Given the description of an element on the screen output the (x, y) to click on. 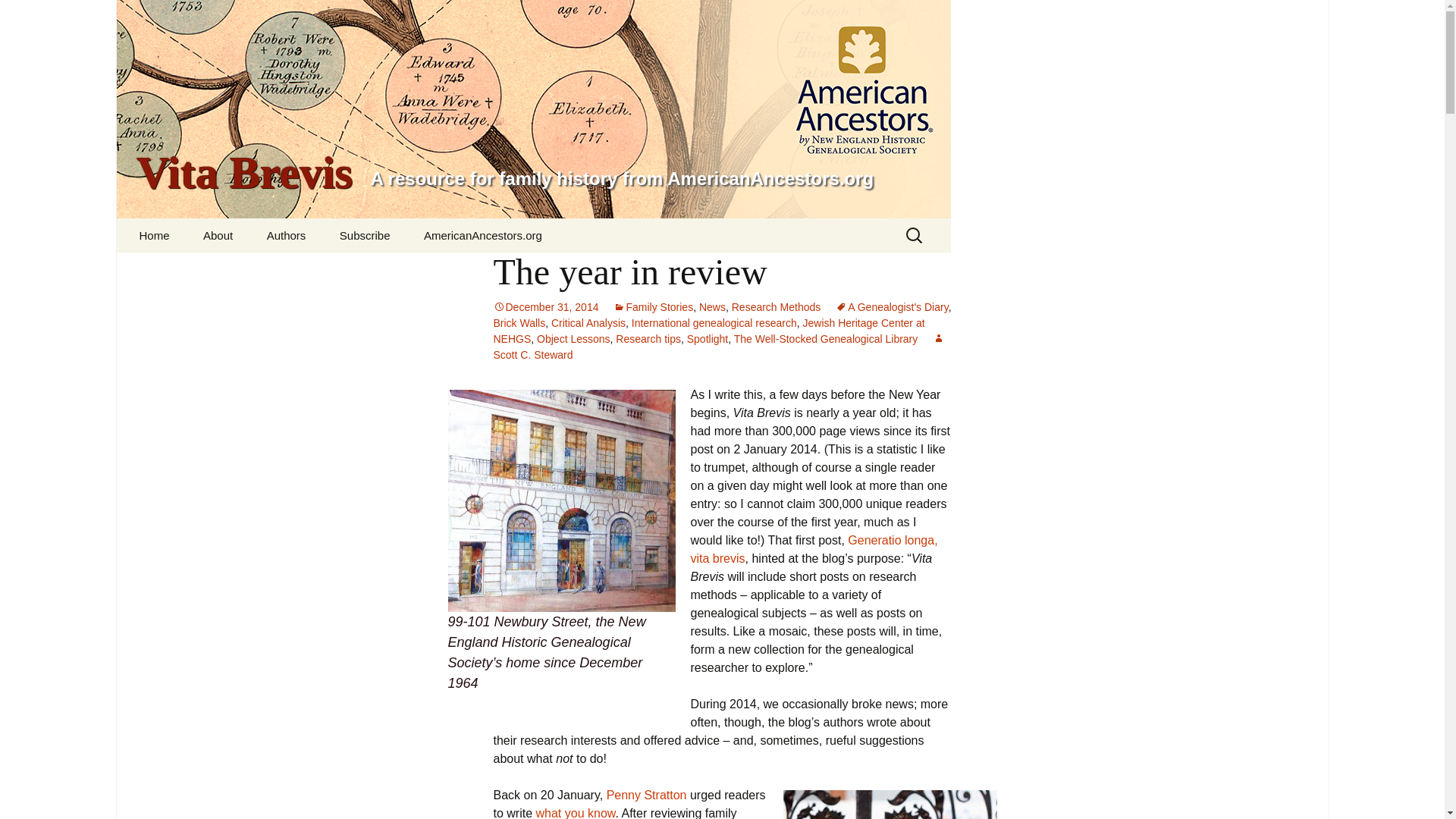
Home (153, 235)
About (217, 235)
Robert Charles Anderson (327, 275)
Permalink to The year in review (545, 306)
Authors (286, 235)
what you know (575, 812)
Penny Stratton (647, 794)
View all posts by Scott C. Steward (718, 346)
Generatio longa, vita brevis (813, 549)
